Given the description of an element on the screen output the (x, y) to click on. 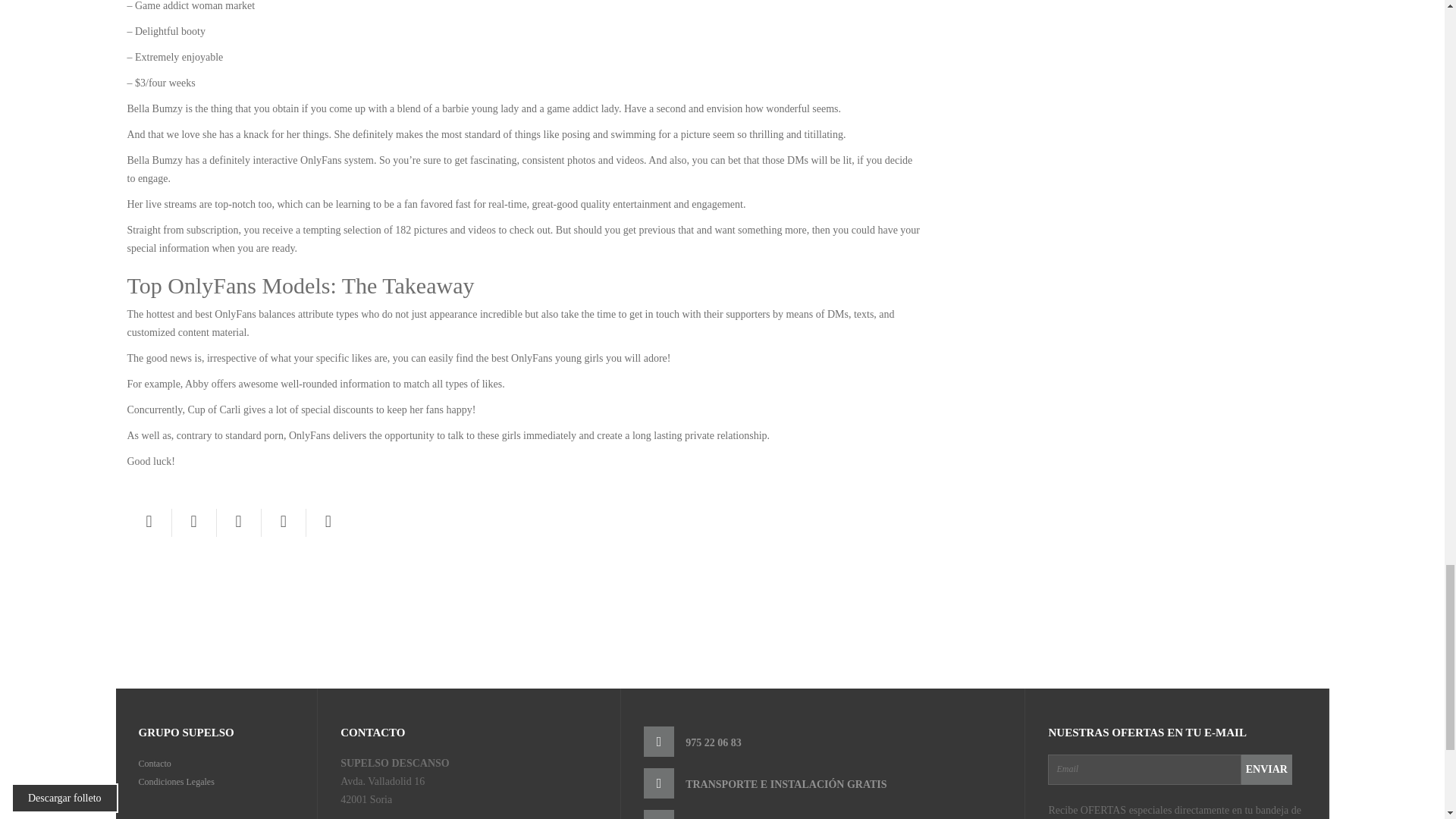
Condiciones Legales (176, 781)
Contacto (154, 763)
Enviar (1266, 768)
LinkedIn (327, 521)
Enviar (1266, 768)
Facebook (149, 521)
Twitter (193, 521)
Pinterest (238, 521)
